Given the description of an element on the screen output the (x, y) to click on. 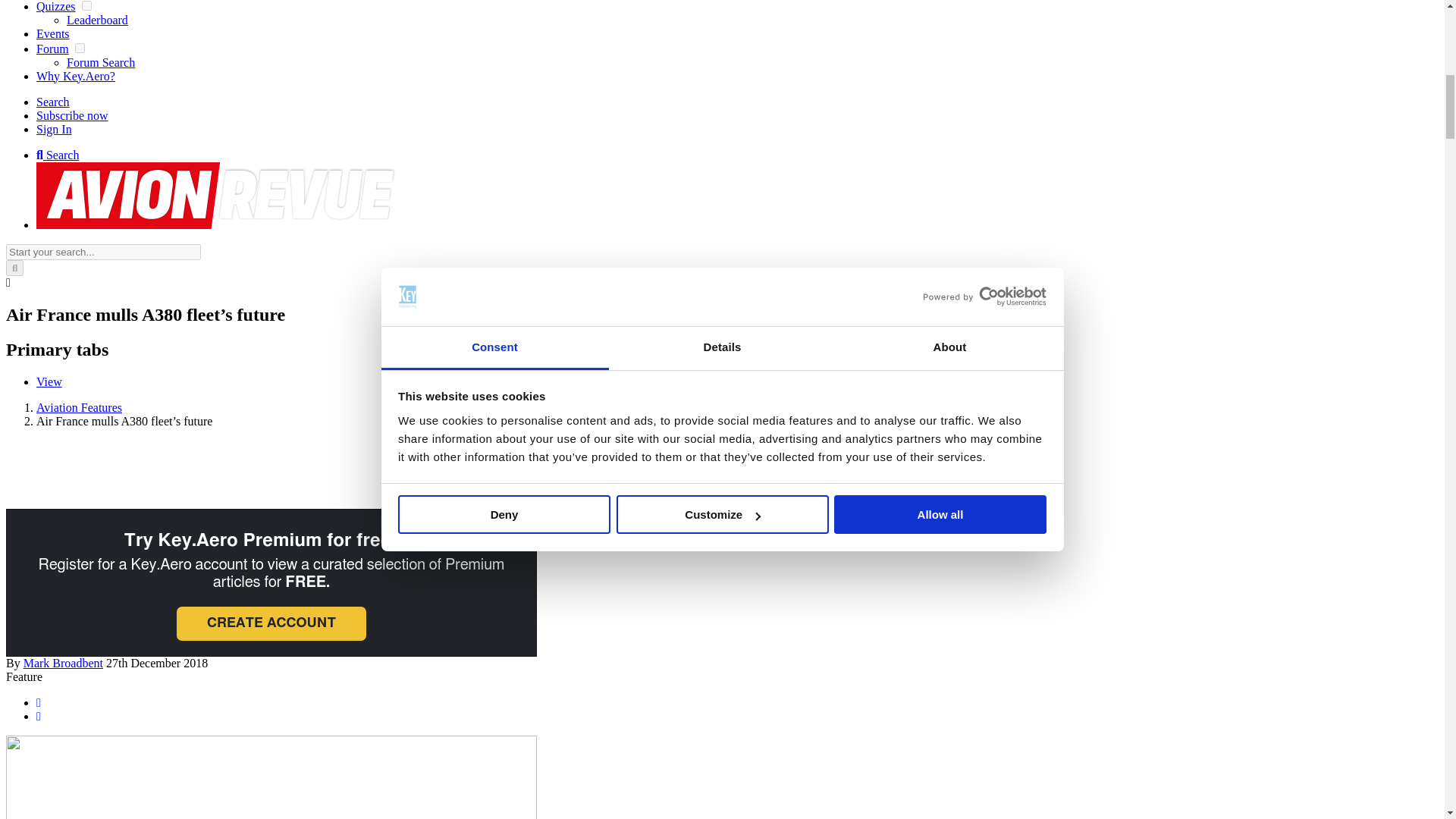
on (79, 48)
on (86, 5)
